Given the description of an element on the screen output the (x, y) to click on. 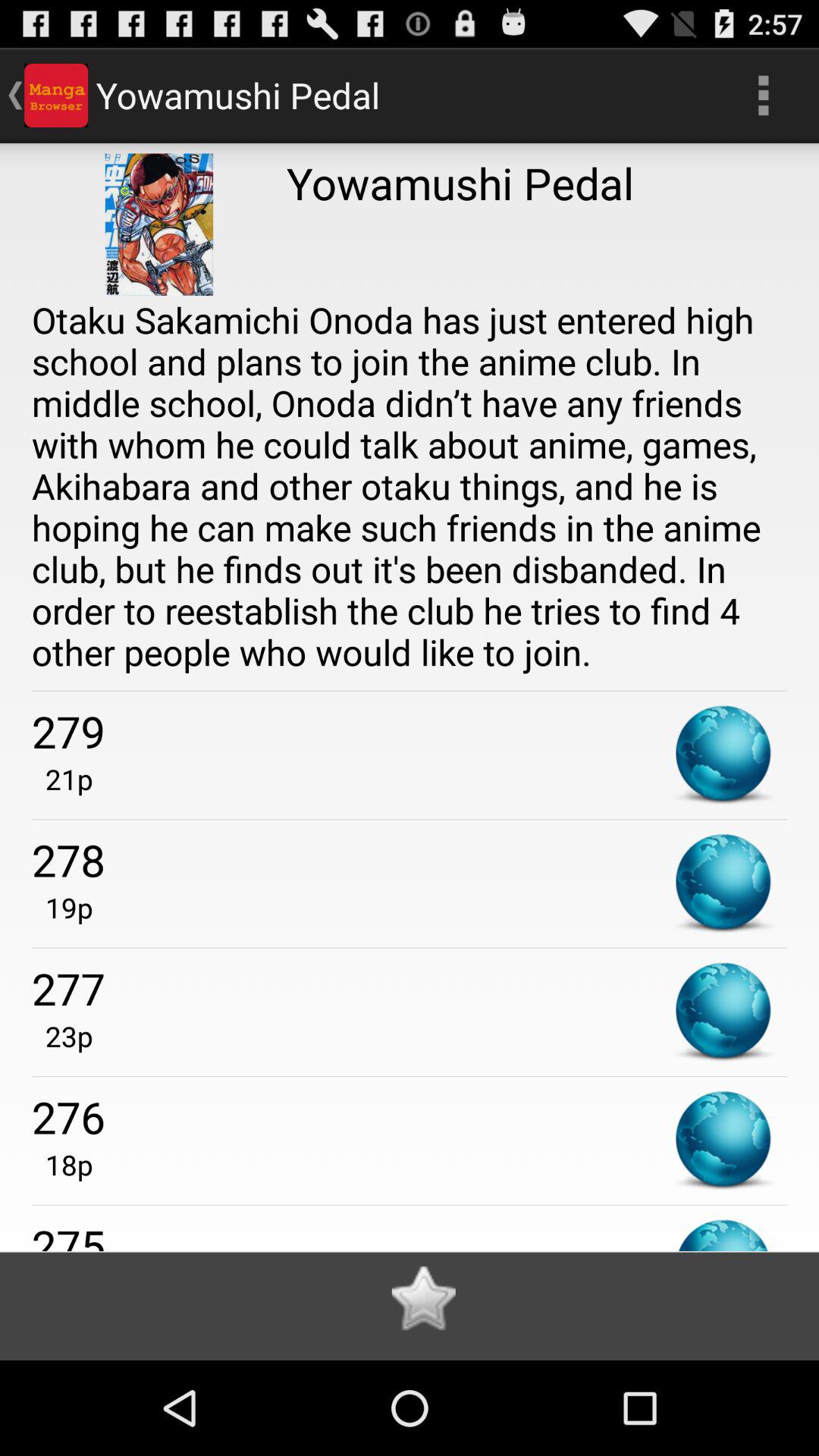
open the   19p app (61, 907)
